Given the description of an element on the screen output the (x, y) to click on. 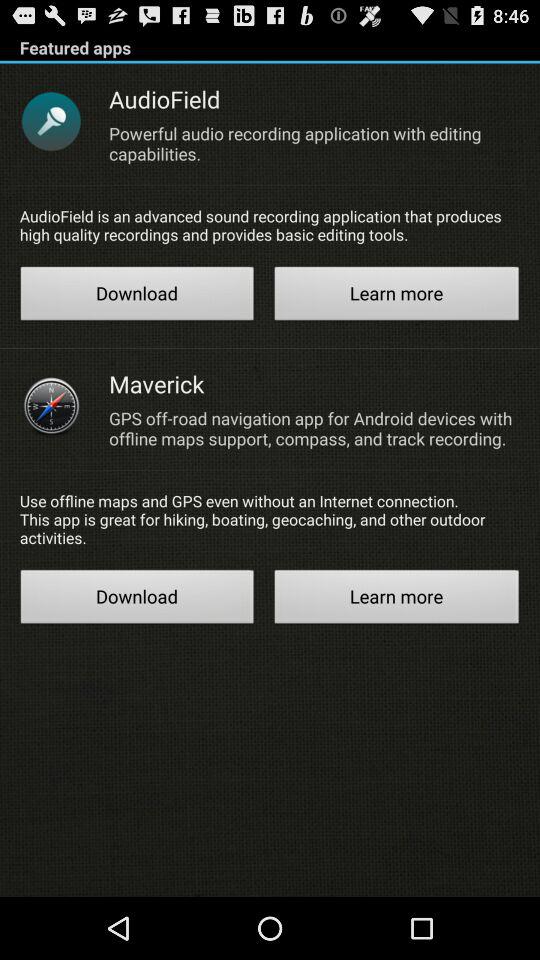
click on the download button  in audiofield (137, 296)
select the last but one option (137, 599)
click on the last button in maverick (396, 599)
click on the icon of audiofield (51, 121)
